Given the description of an element on the screen output the (x, y) to click on. 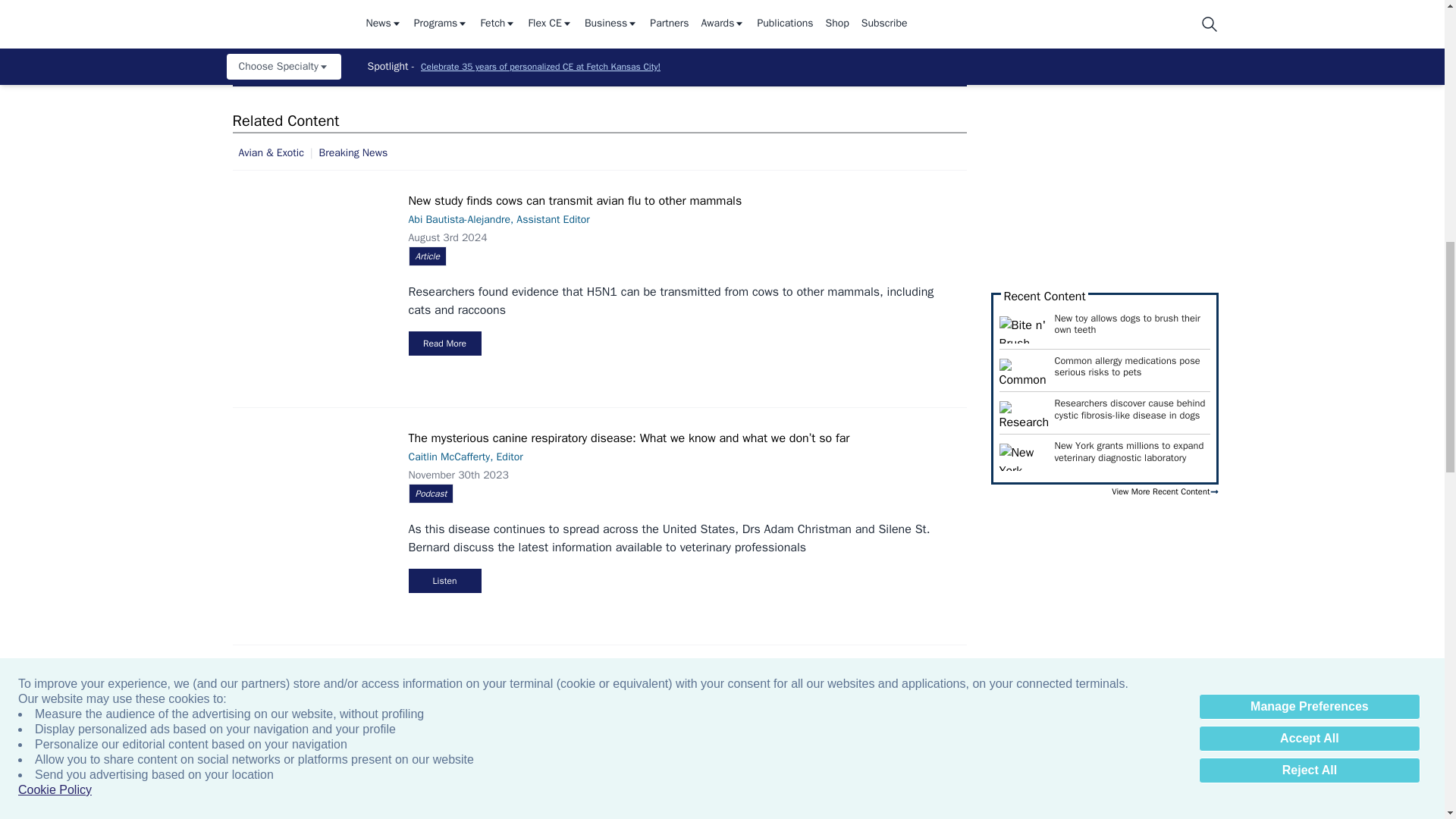
Veterinarian with a love for wildlife photography (1163, 11)
Administering anesthesia to lion patients  (343, 11)
Managing common avian emergencies (835, 11)
Overcoming the biggest challenge in avian critical care (999, 11)
Making waves in sea turtle conservation  (1326, 11)
Triaging avian emergencies  (507, 11)
A dive into Dr Vernard's love for koi fish (671, 11)
